Given the description of an element on the screen output the (x, y) to click on. 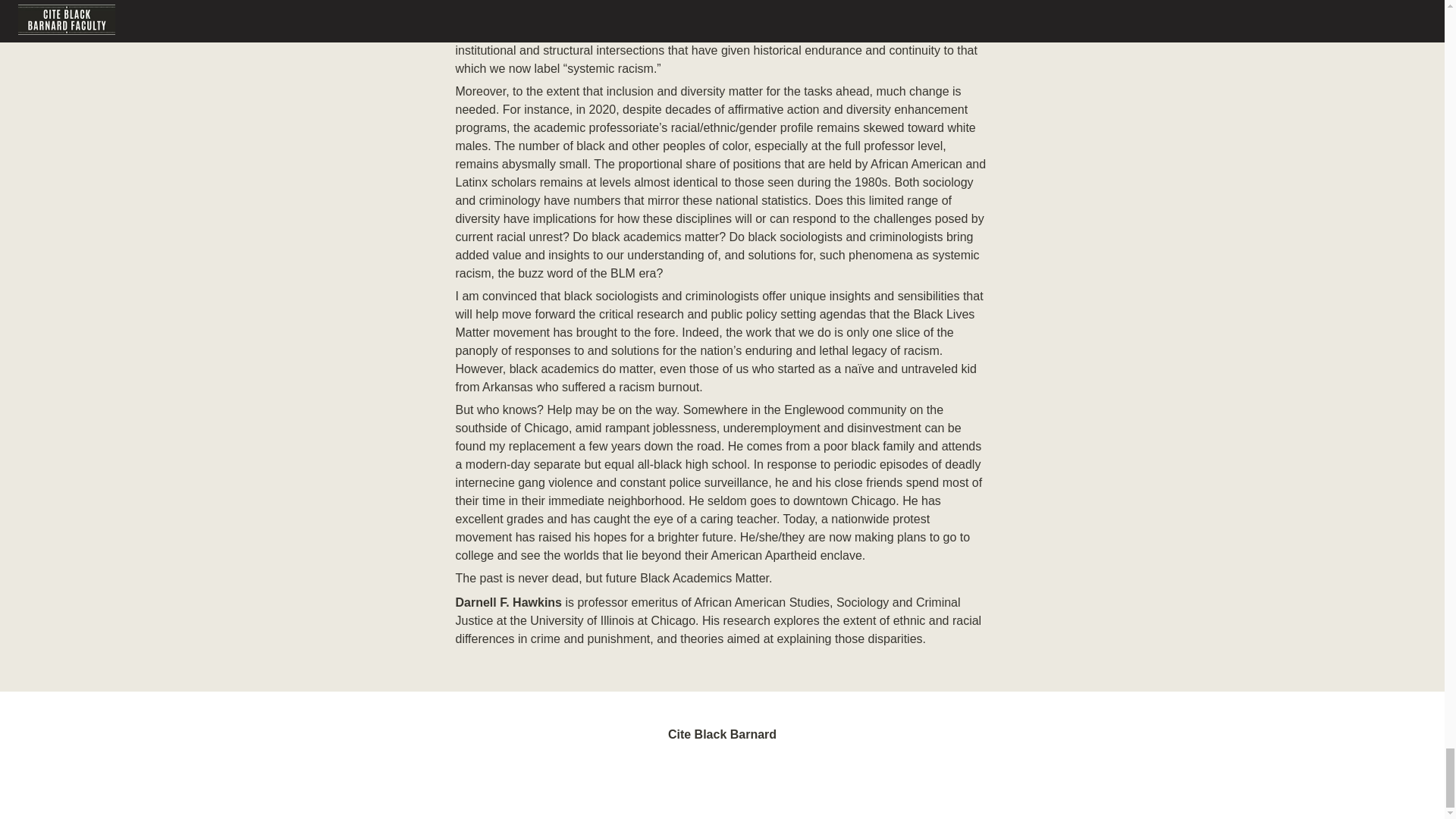
Cite Black Barnard (722, 746)
